Given the description of an element on the screen output the (x, y) to click on. 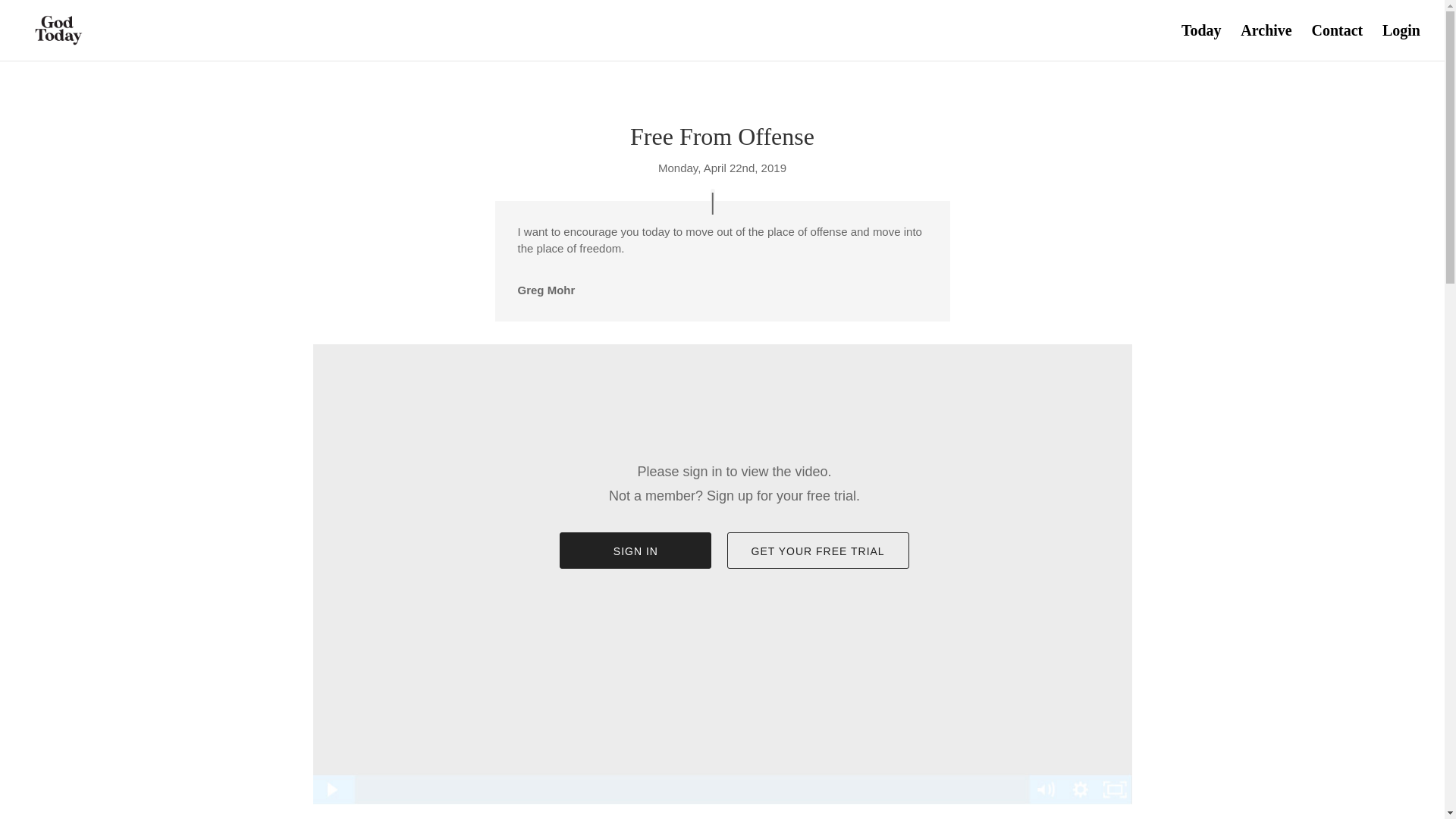
Contact (1336, 42)
SIGN IN (635, 550)
GET YOUR FREE TRIAL (817, 550)
Login (1401, 42)
Sign In (635, 550)
Get your free trial (817, 550)
Archive (1265, 42)
Today (1200, 42)
